Given the description of an element on the screen output the (x, y) to click on. 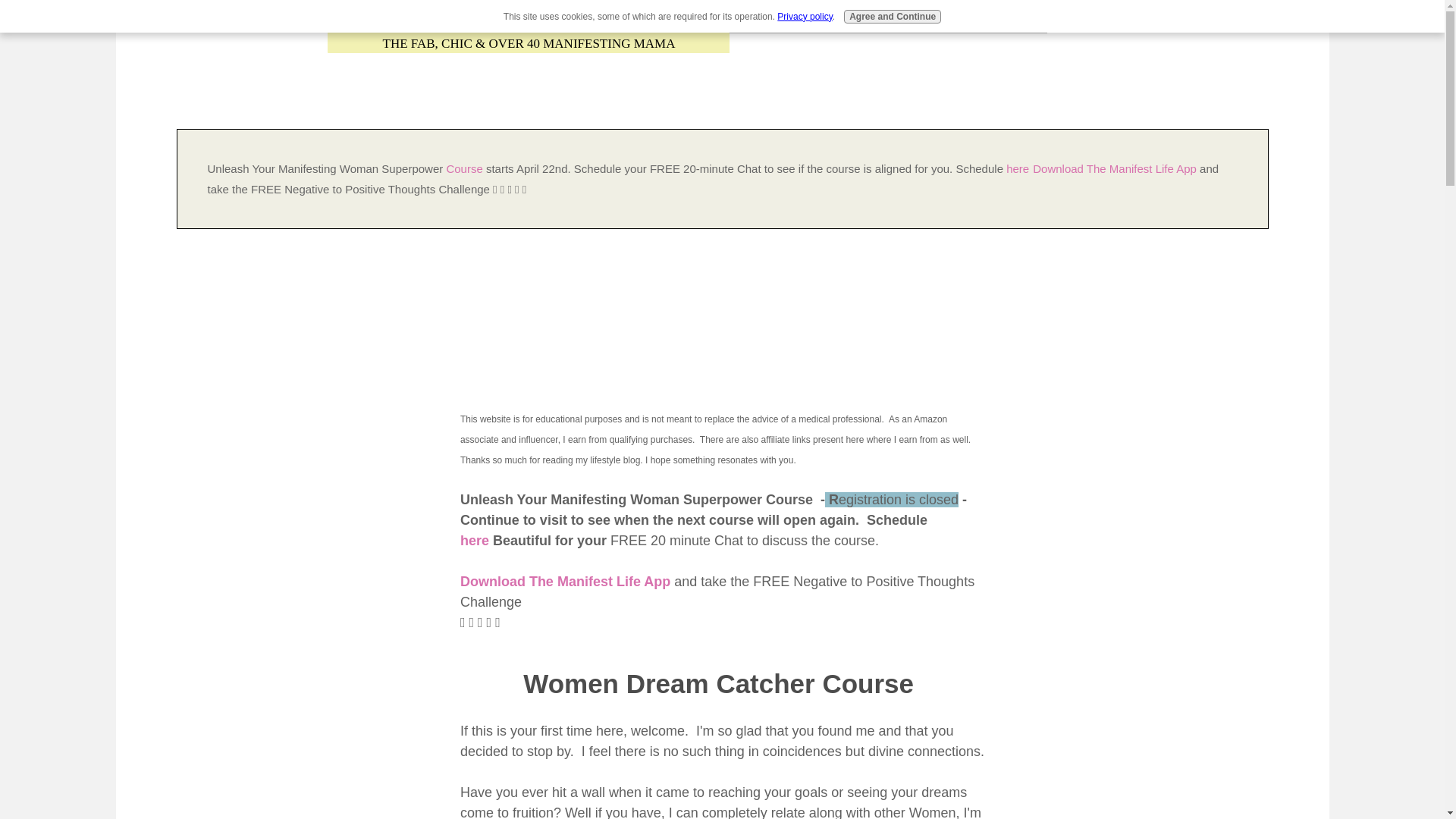
WELCOME (403, 22)
Privacy policy (804, 16)
Download The Manifest Life App (1114, 168)
ABOUT ME (1011, 22)
Course (465, 168)
Download The Manifest Life App (564, 581)
Agree and Continue (892, 16)
here (1017, 168)
here (474, 540)
